Given the description of an element on the screen output the (x, y) to click on. 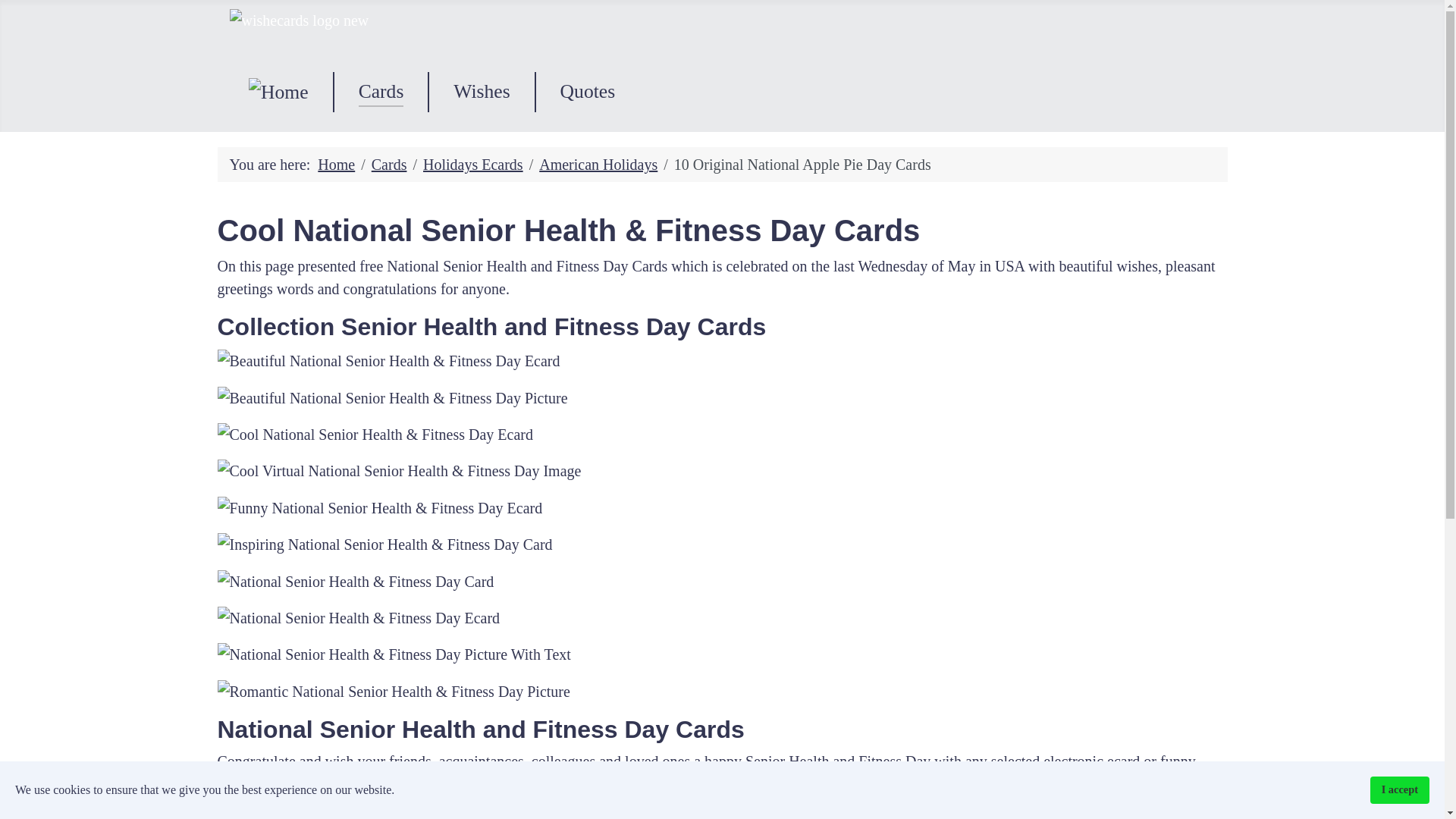
American Holidays (598, 164)
Cards (381, 91)
Holidays Ecards (472, 164)
Quotes (587, 91)
Wishes (480, 91)
Cards (389, 164)
I accept (1399, 789)
Home (336, 164)
